Given the description of an element on the screen output the (x, y) to click on. 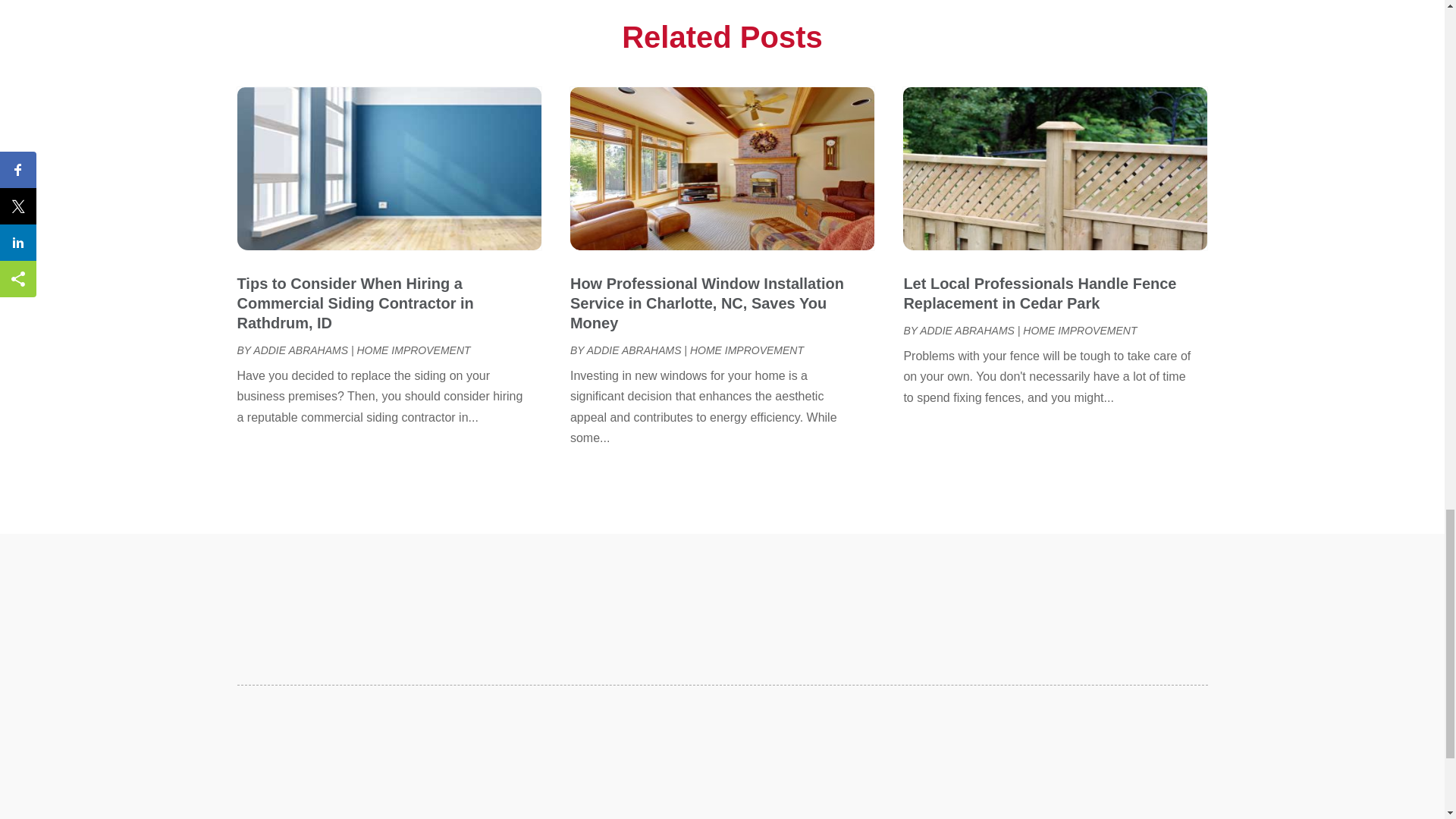
Posts by Addie Abrahams (633, 349)
Custom Home Builder (965, 19)
Posts by Addie Abrahams (300, 349)
Contractor (938, 2)
Posts by Addie Abrahams (967, 330)
